Given the description of an element on the screen output the (x, y) to click on. 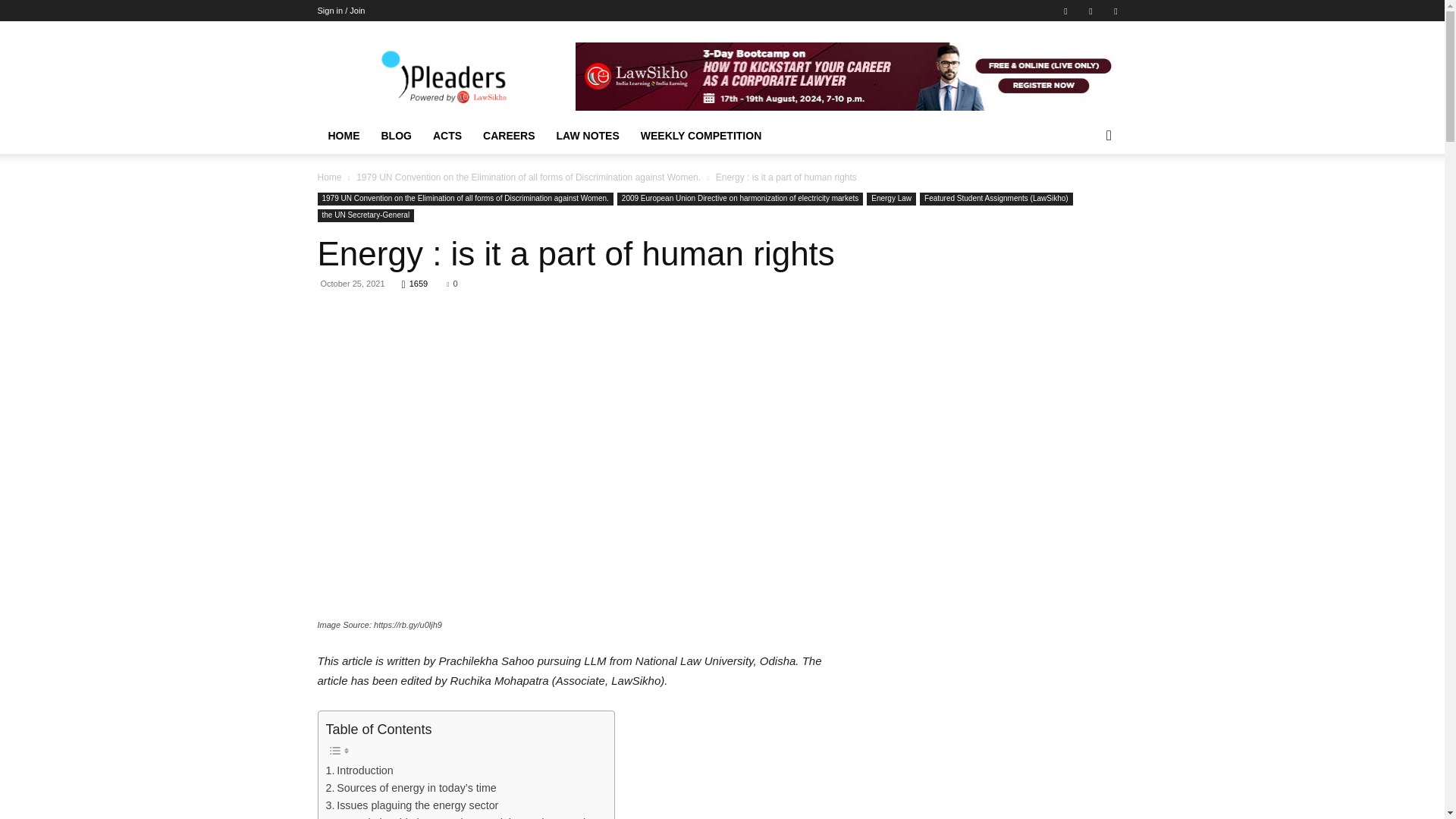
RSS (1090, 10)
Twitter (1114, 10)
Facebook (1065, 10)
